Given the description of an element on the screen output the (x, y) to click on. 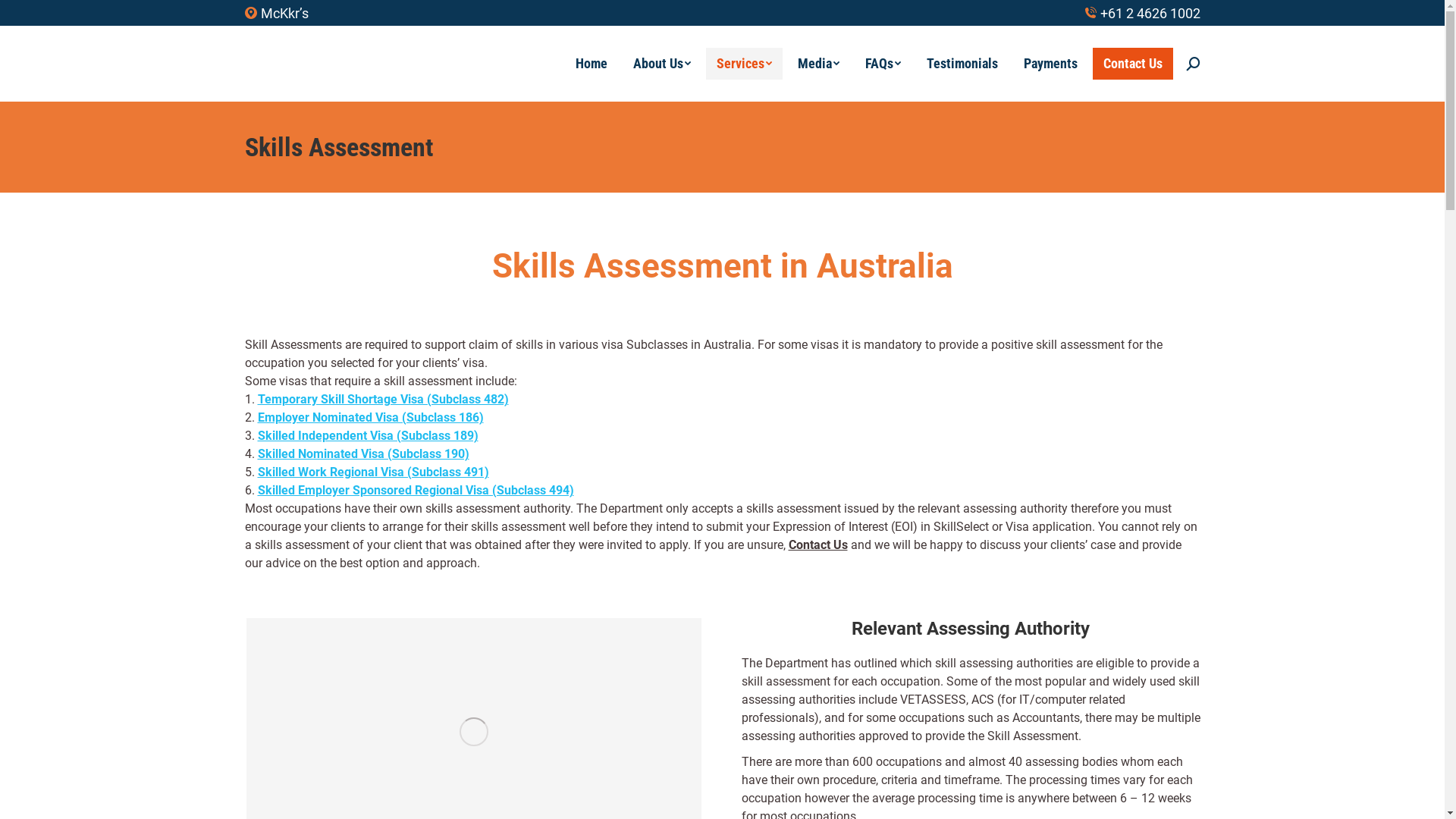
Temporary Skill Shortage Visa (Subclass 482) Element type: text (382, 399)
Go! Element type: text (23, 15)
Skilled Independent Visa (Subclass 189) Element type: text (367, 435)
Employer Nominated Visa (Subclass 186) Element type: text (370, 417)
Testimonials Element type: text (962, 63)
Skilled Work Regional Visa (Subclass 491) Element type: text (373, 471)
+61 2 4626 1002 Element type: text (1142, 13)
Home Element type: text (590, 63)
Services Element type: text (743, 63)
Contact Us Element type: text (1132, 63)
About Us Element type: text (660, 63)
Skilled Employer Sponsored Regional Visa (Subclass 494) Element type: text (415, 490)
FAQs Element type: text (881, 63)
Skilled Nominated Visa (Subclass 190) Element type: text (363, 453)
Media Element type: text (818, 63)
Payments Element type: text (1050, 63)
